Given the description of an element on the screen output the (x, y) to click on. 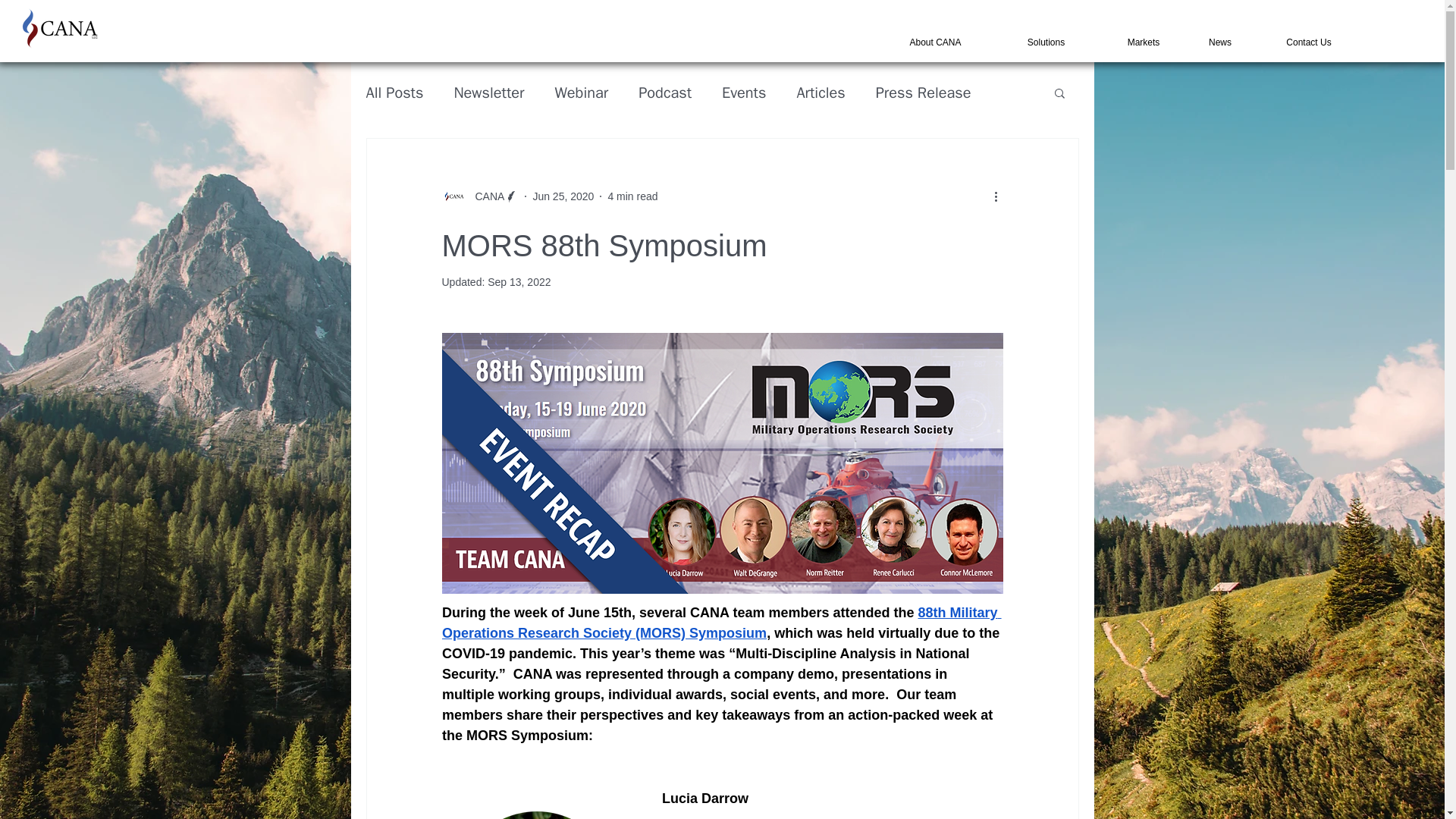
Newsletter (488, 91)
Sep 13, 2022 (518, 282)
Jun 25, 2020 (563, 195)
4 min read (632, 195)
All Posts (394, 91)
Markets (1142, 41)
Press Release (923, 91)
Podcast (665, 91)
CANA (484, 195)
Events (743, 91)
